Given the description of an element on the screen output the (x, y) to click on. 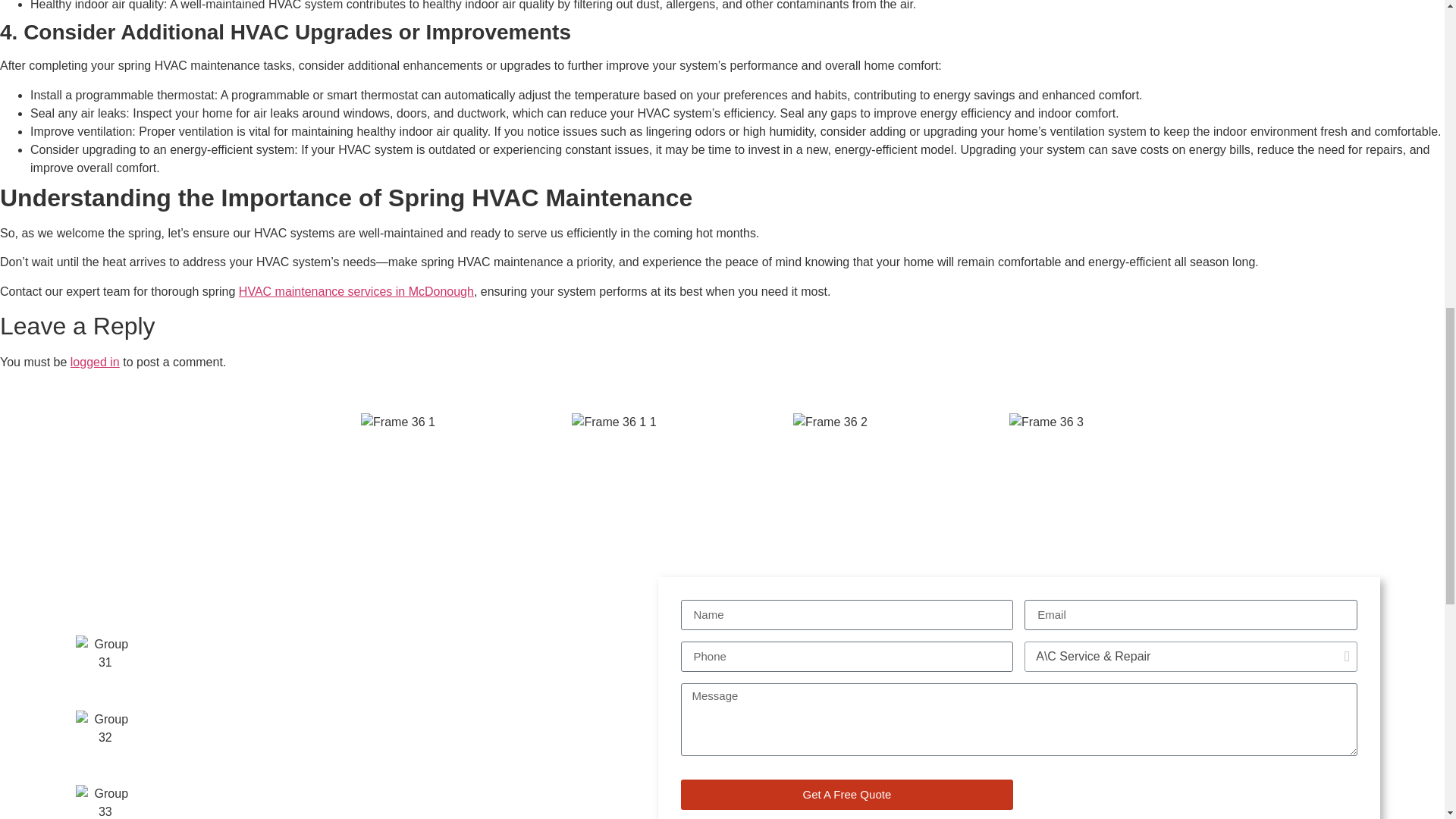
Frame 36 1 (398, 422)
Frame 36 2 (830, 422)
Frame 36 1 1 (614, 422)
Frame 36 3 (1046, 422)
